Given the description of an element on the screen output the (x, y) to click on. 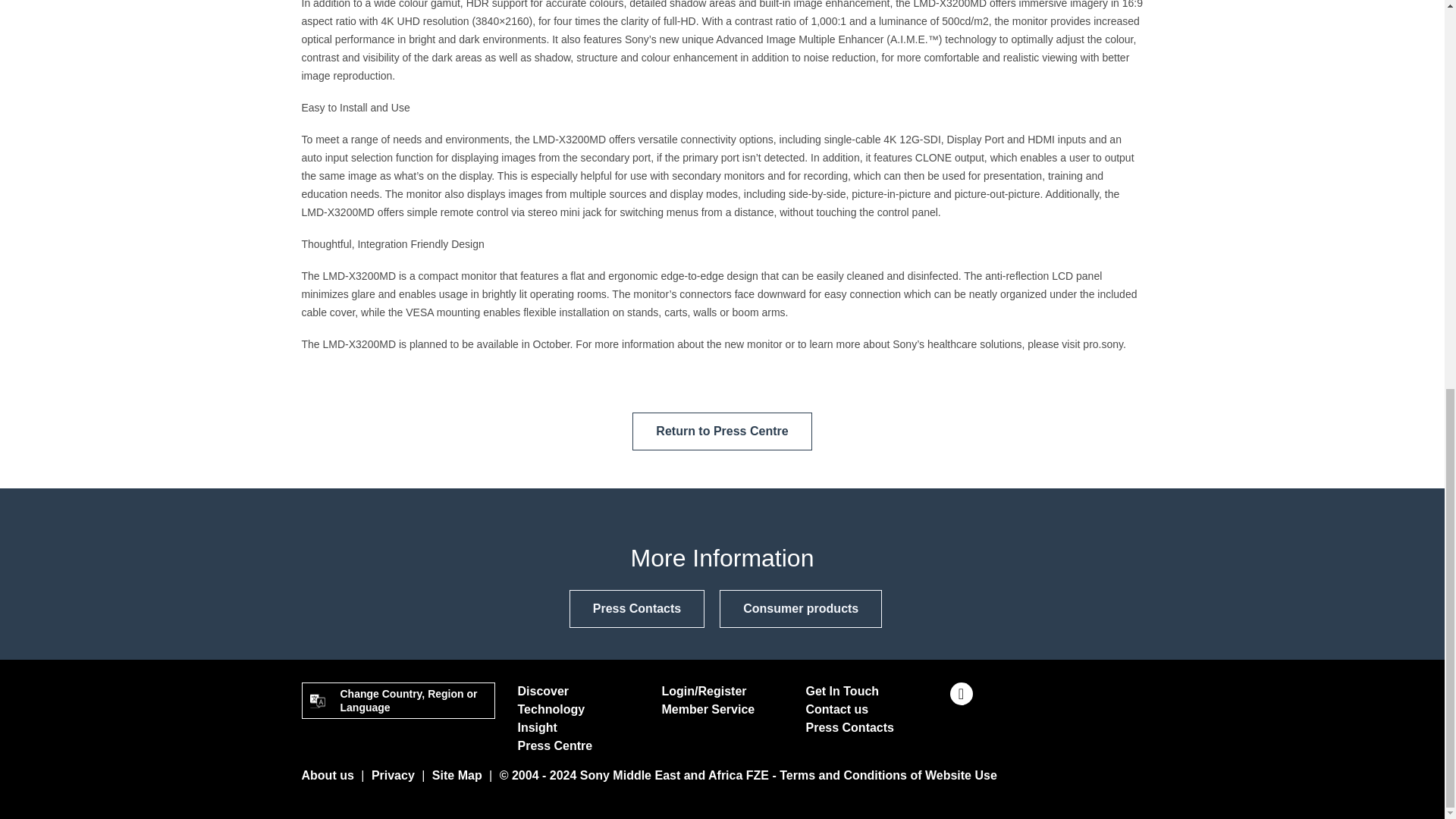
Member Service (707, 708)
Return to Press Centre (720, 431)
Contact us (836, 708)
Press Centre (554, 745)
Insight (536, 727)
Site Map (456, 775)
Privacy (392, 775)
Change Country, Region or Language (398, 700)
Press Contacts (849, 727)
Press Contacts (636, 608)
About us (327, 775)
Technology (550, 708)
Consumer products (800, 608)
